Given the description of an element on the screen output the (x, y) to click on. 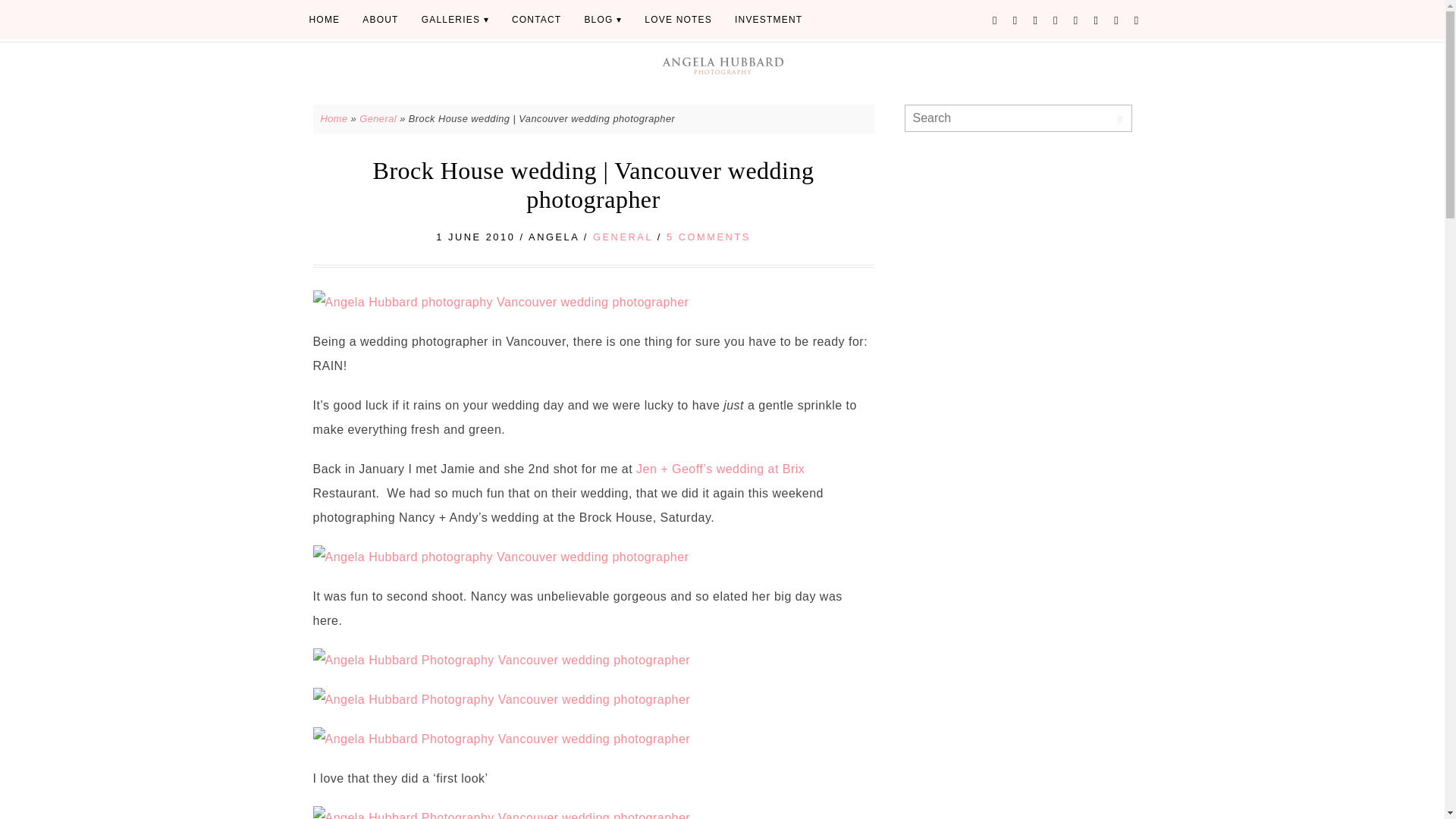
YouTube (1116, 20)
Email (1137, 20)
BLOG (602, 19)
INVESTMENT (768, 19)
Facebook (1015, 20)
Twitter (994, 20)
HOME (323, 19)
Angela Hubbard Photography Vancouver wedding photographer (501, 660)
Instagram (1055, 20)
Pinterest (1035, 20)
Angela Hubbard Photography Vancouver wedding photographer (501, 699)
Angela Hubbard photography Vancouver wedding photographer (500, 557)
WEDDINGS (455, 19)
Google (1076, 20)
LOVE NOTES (678, 19)
